Given the description of an element on the screen output the (x, y) to click on. 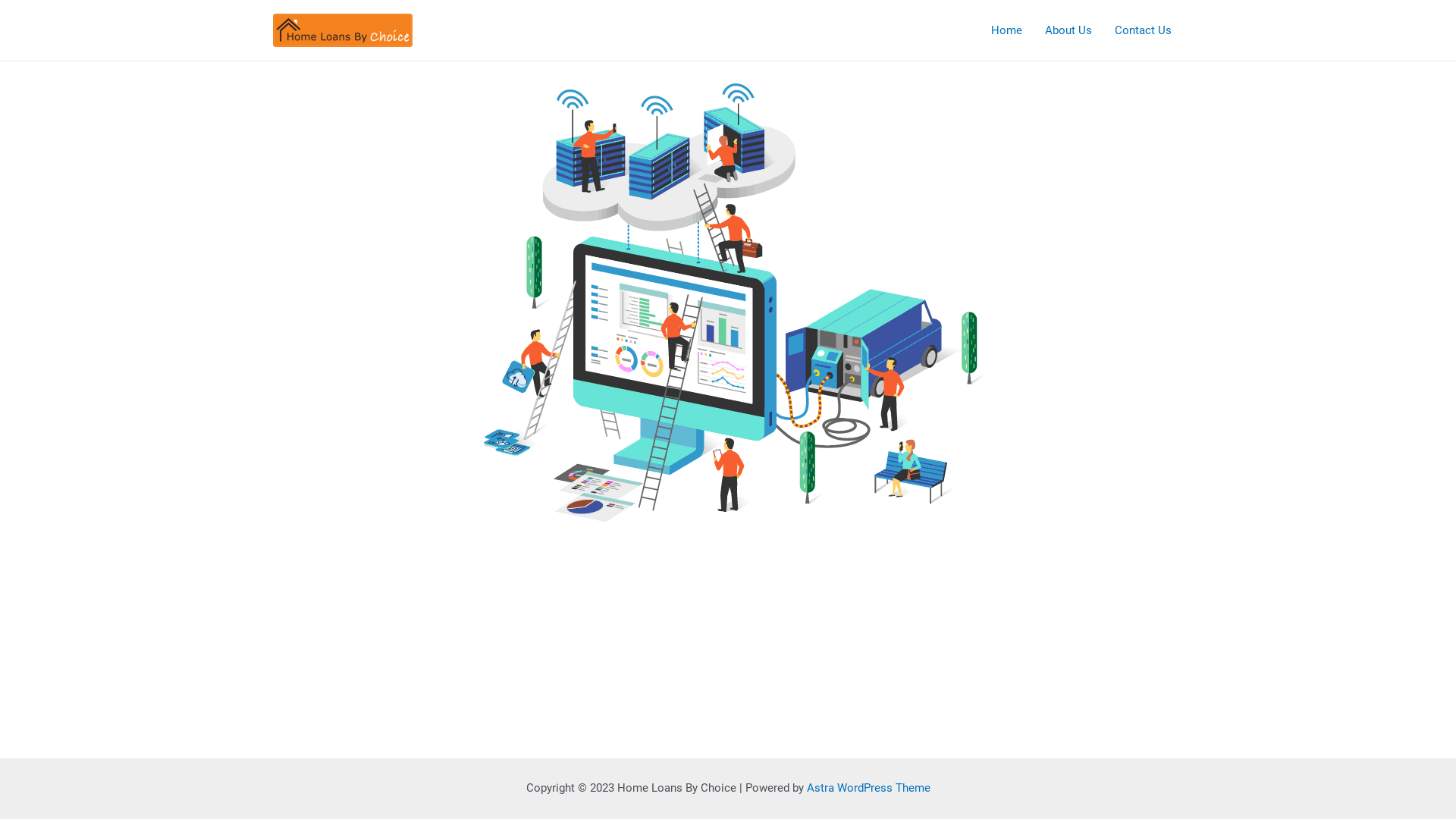
Astra WordPress Theme Element type: text (868, 787)
About Us Element type: text (1068, 30)
Home Element type: text (1006, 30)
Contact Us Element type: text (1143, 30)
